Given the description of an element on the screen output the (x, y) to click on. 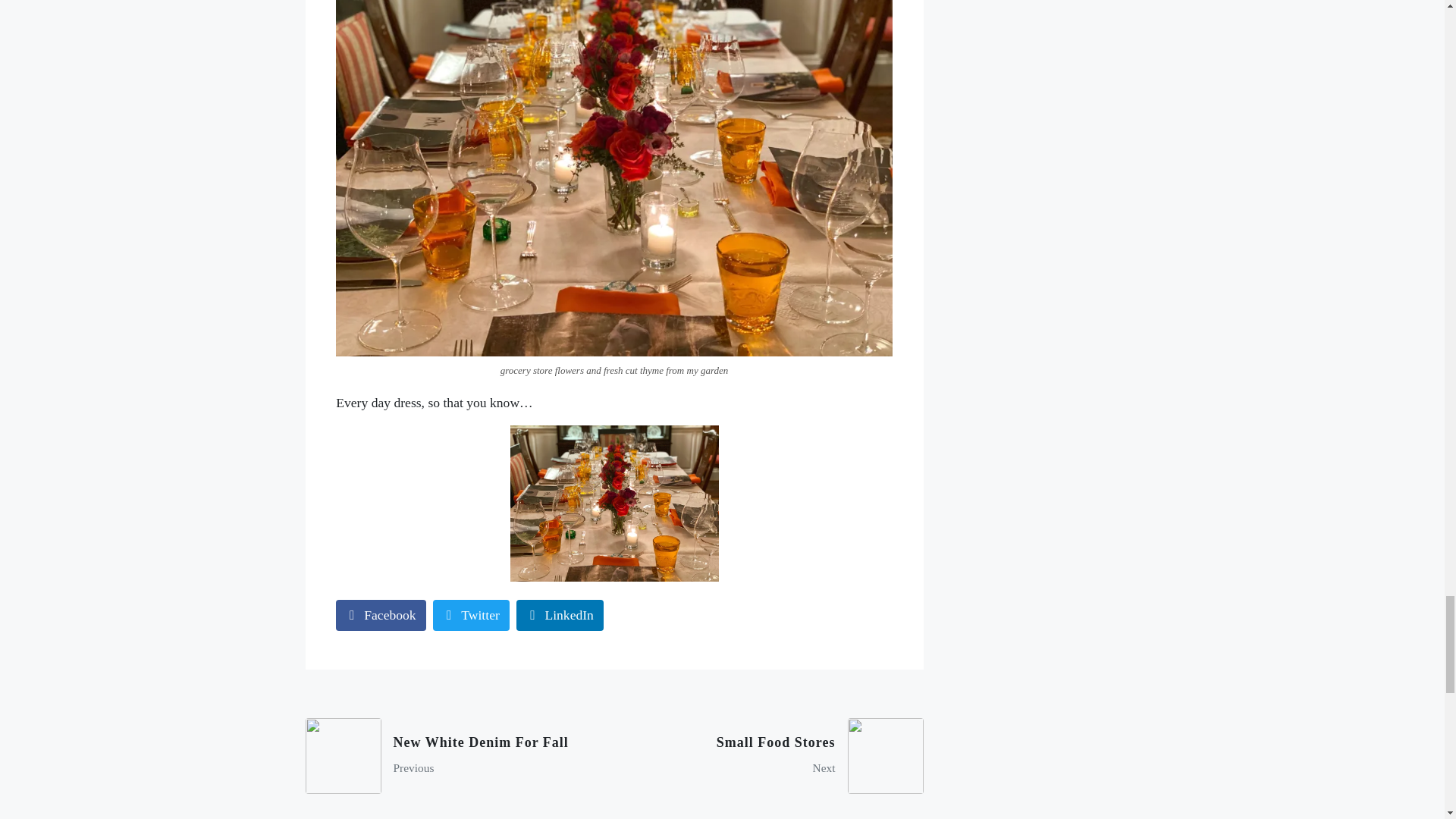
New White Denim for Fall (454, 755)
Small Food Stores (774, 755)
Twitter (470, 614)
Facebook (774, 755)
LinkedIn (380, 614)
